Given the description of an element on the screen output the (x, y) to click on. 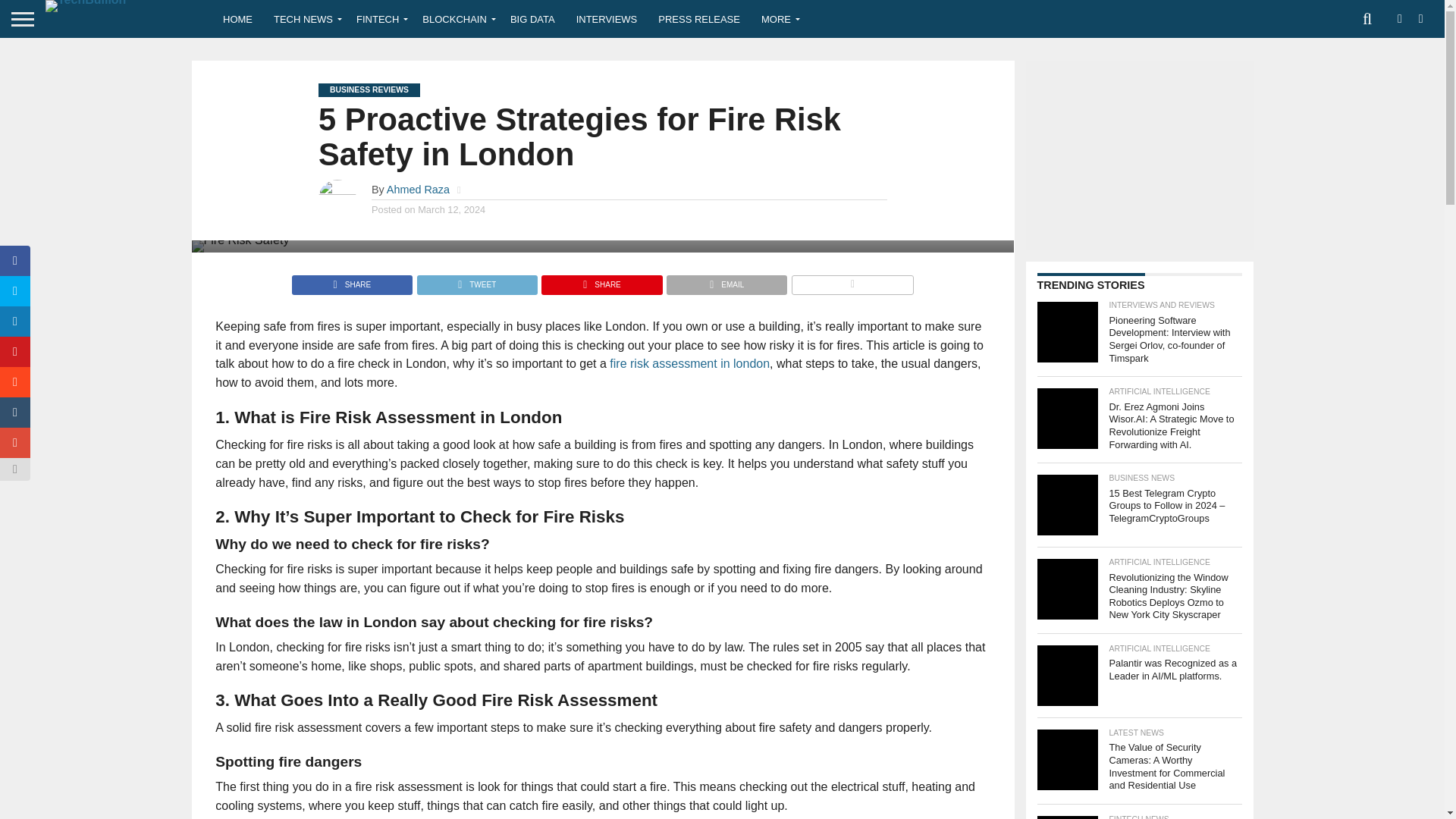
Tweet This Post (476, 280)
Posts by Ahmed Raza (418, 189)
Pin This Post (601, 280)
Share on Facebook (352, 280)
